Given the description of an element on the screen output the (x, y) to click on. 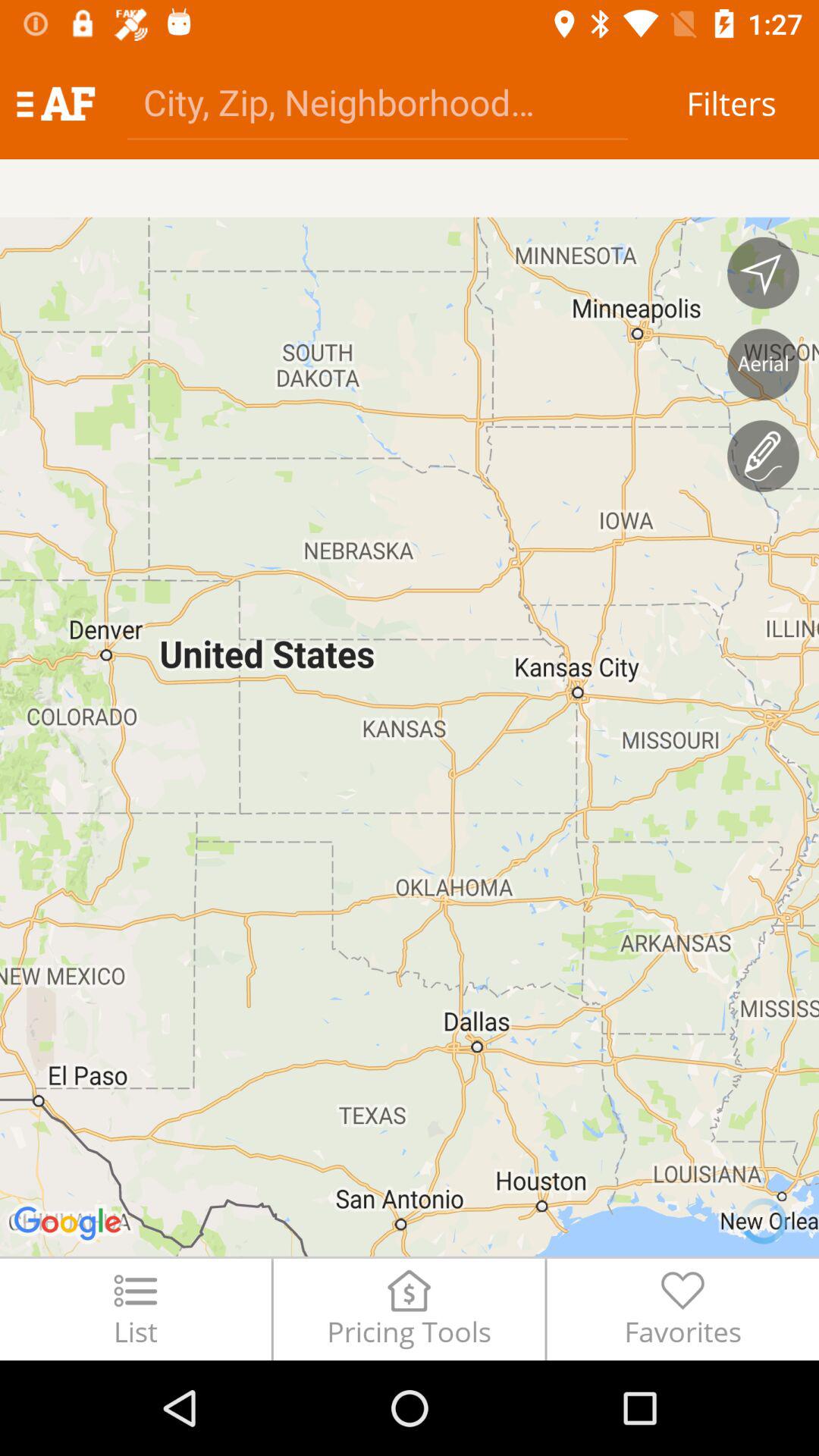
tap the item next to the filters item (377, 102)
